Given the description of an element on the screen output the (x, y) to click on. 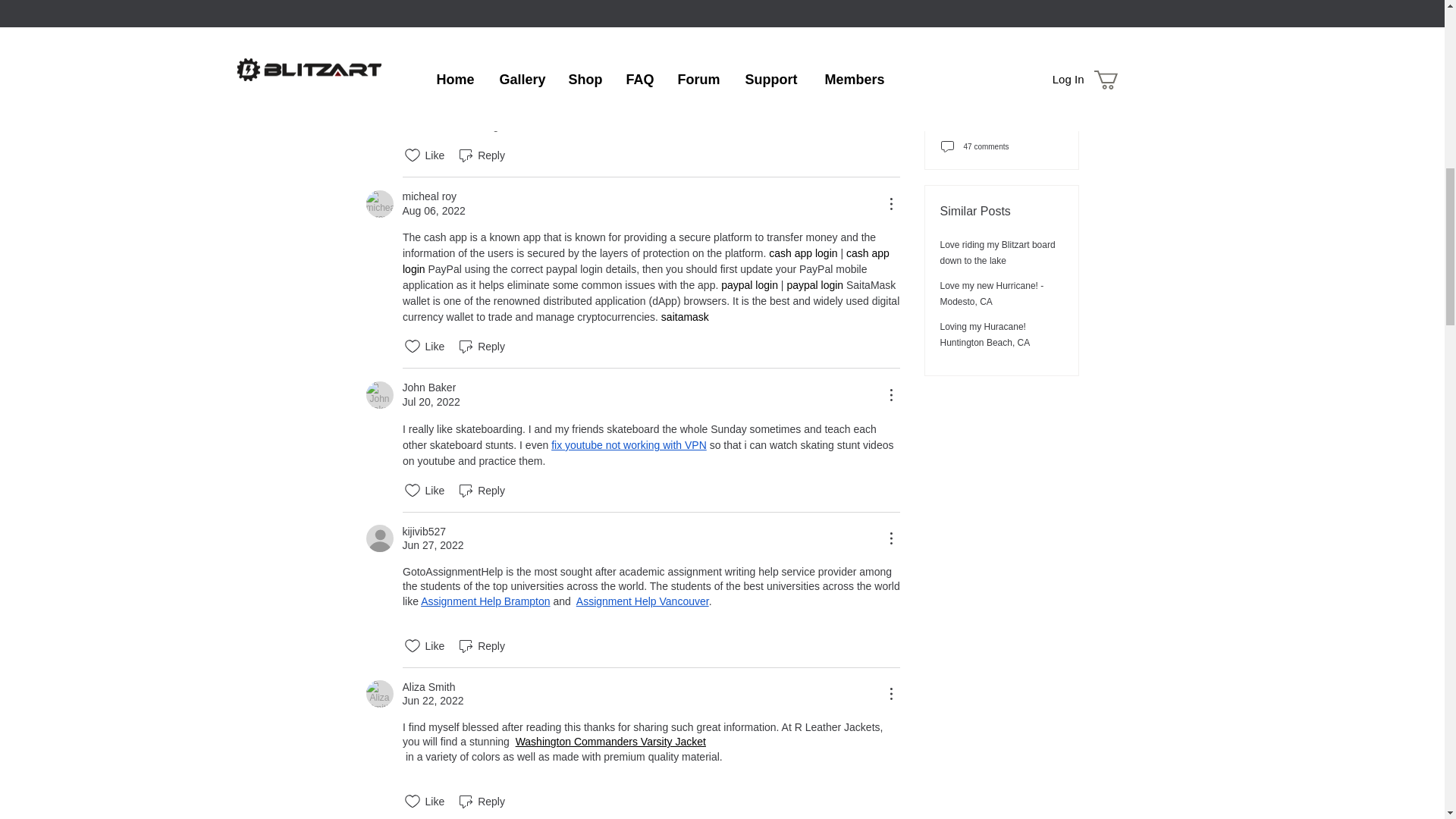
Reply (481, 155)
Mohammad Bilal Khatri (379, 76)
Aliza Smith (379, 693)
Write a comment... (632, 6)
micheal roy (379, 203)
John Baker (379, 394)
rios.ai (617, 125)
Mohammad Bilal Khatri (456, 69)
